Given the description of an element on the screen output the (x, y) to click on. 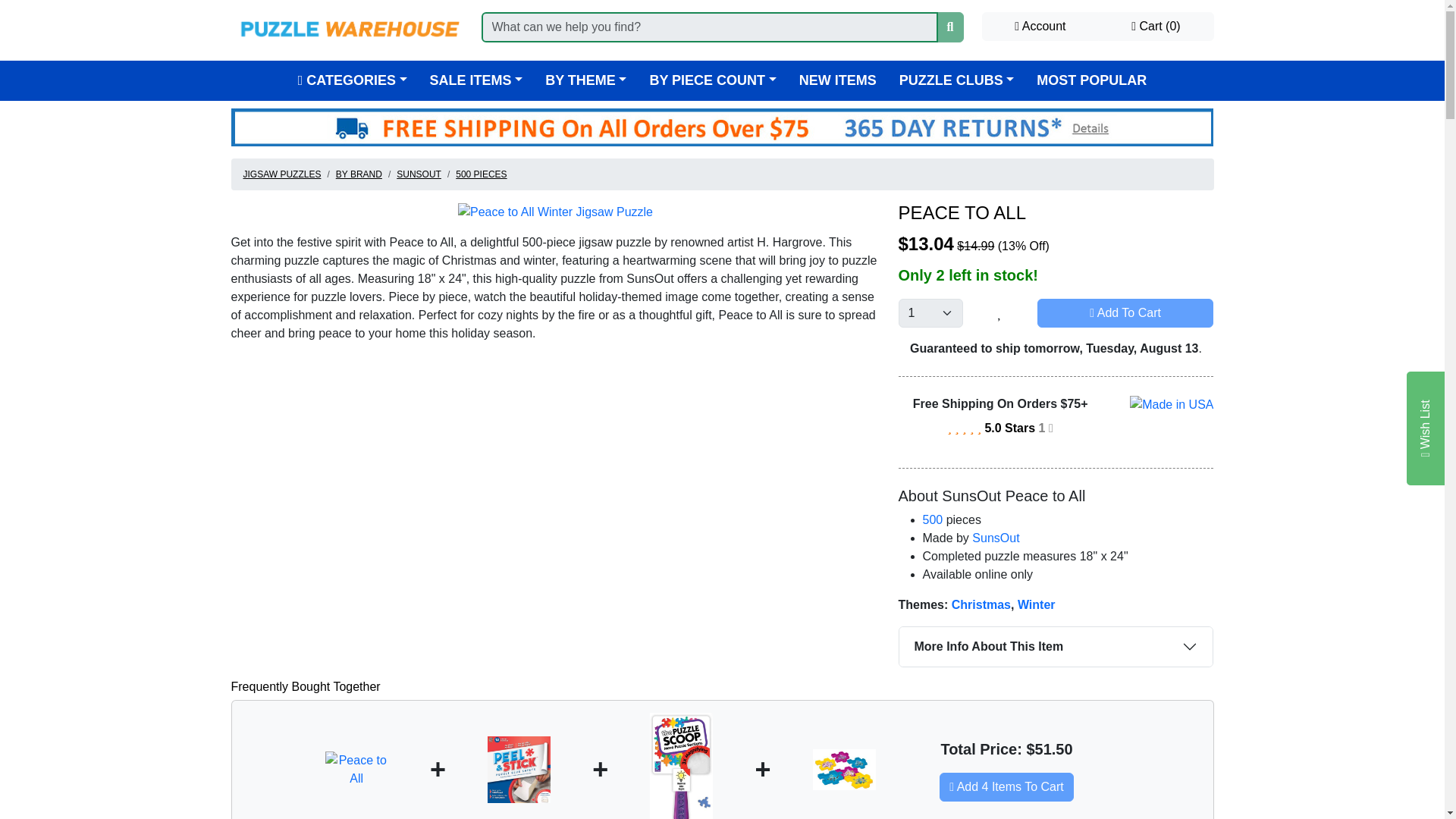
CATEGORIES (352, 80)
Add To Wish List (999, 312)
Quantity (930, 312)
Account (1040, 26)
